Given the description of an element on the screen output the (x, y) to click on. 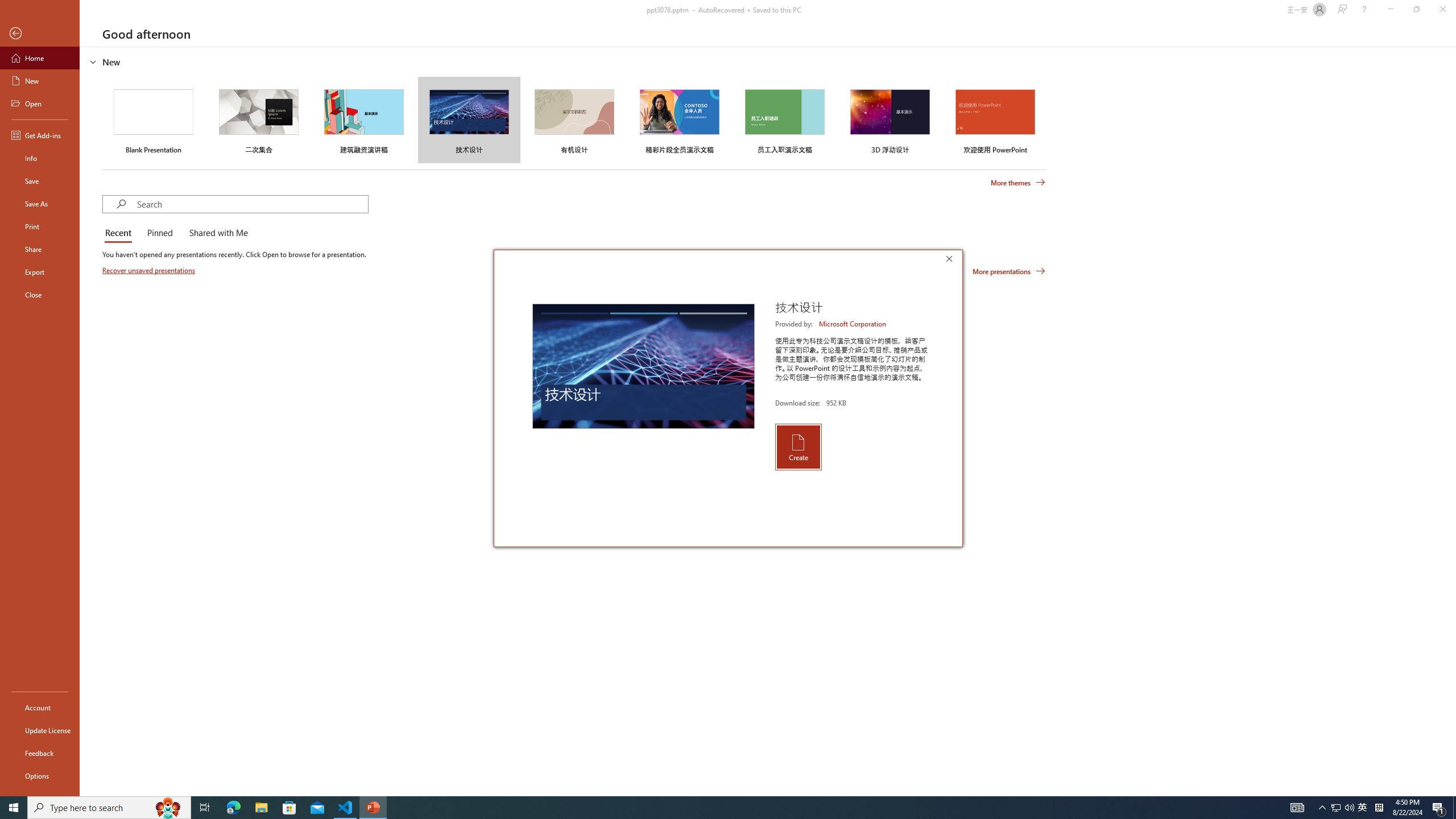
Export (40, 271)
Back (40, 33)
Hide or show region (92, 61)
Pinned (159, 233)
